Given the description of an element on the screen output the (x, y) to click on. 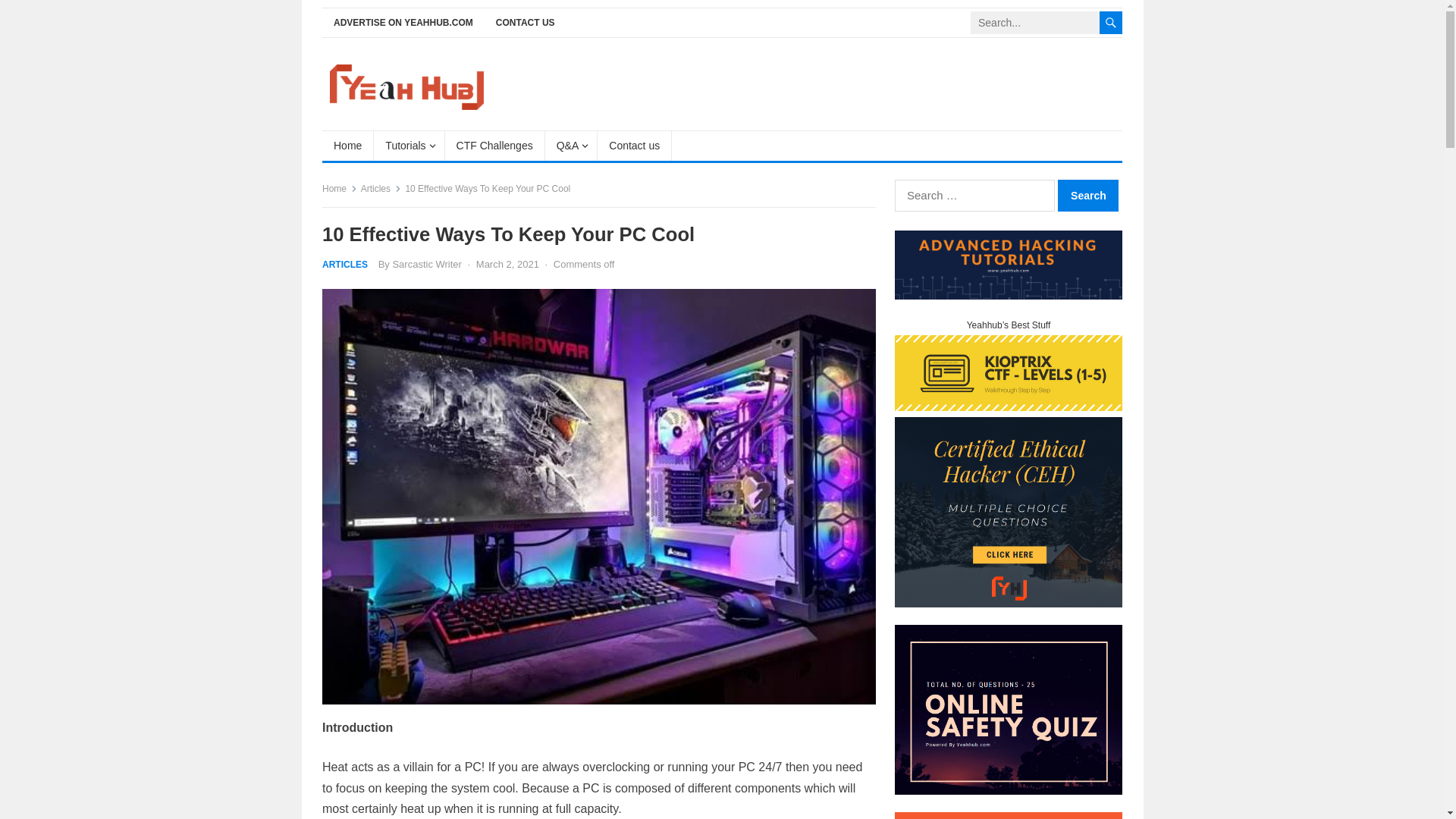
Tutorials (409, 145)
Search (1088, 195)
Home (347, 145)
Advanced Hacking Tutorials By yeahhub (1008, 295)
Search (1088, 195)
CTF Challenges (494, 145)
ADVERTISE ON YEAHHUB.COM (402, 22)
CONTACT US (525, 22)
Contact us (633, 145)
Posts by Sarcastic Writer (426, 264)
